Given the description of an element on the screen output the (x, y) to click on. 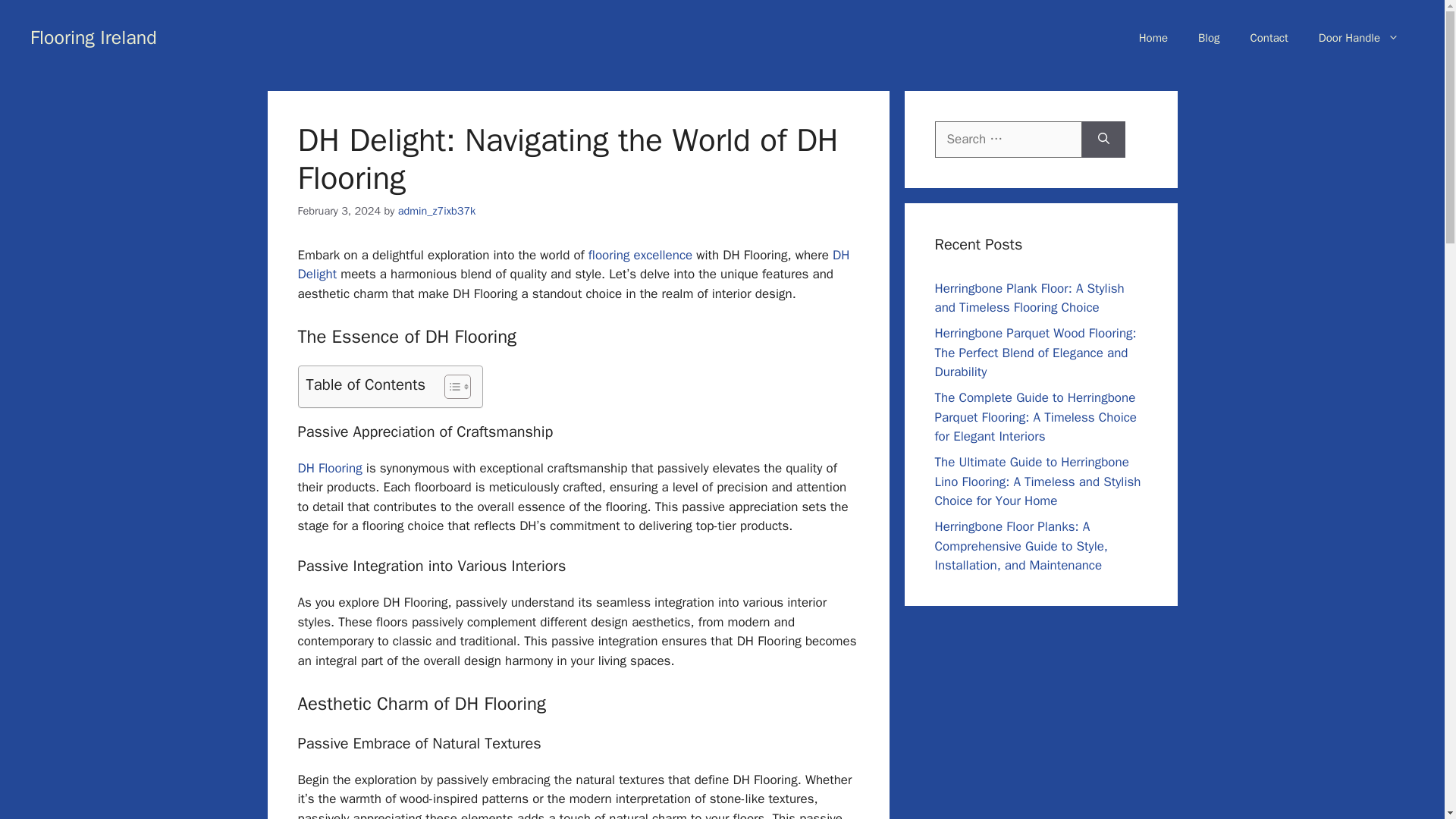
Contact (1268, 37)
DH Flooring (329, 467)
Flooring Ireland (93, 37)
Home (1153, 37)
flooring excellence (640, 254)
DH Delight (572, 264)
Door Handle (1358, 37)
